Given the description of an element on the screen output the (x, y) to click on. 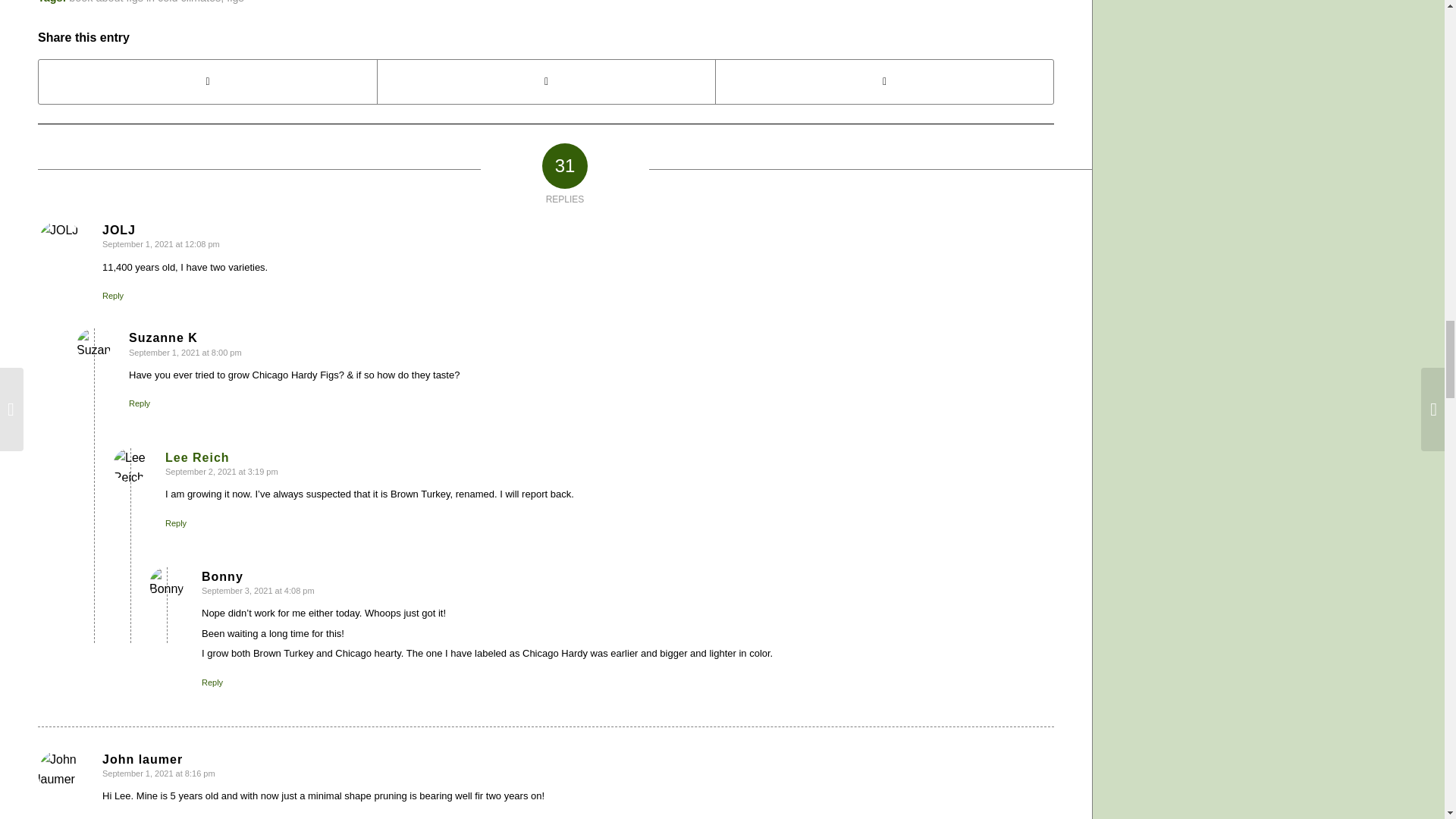
figs (235, 2)
book about figs in cold climates (144, 2)
